Given the description of an element on the screen output the (x, y) to click on. 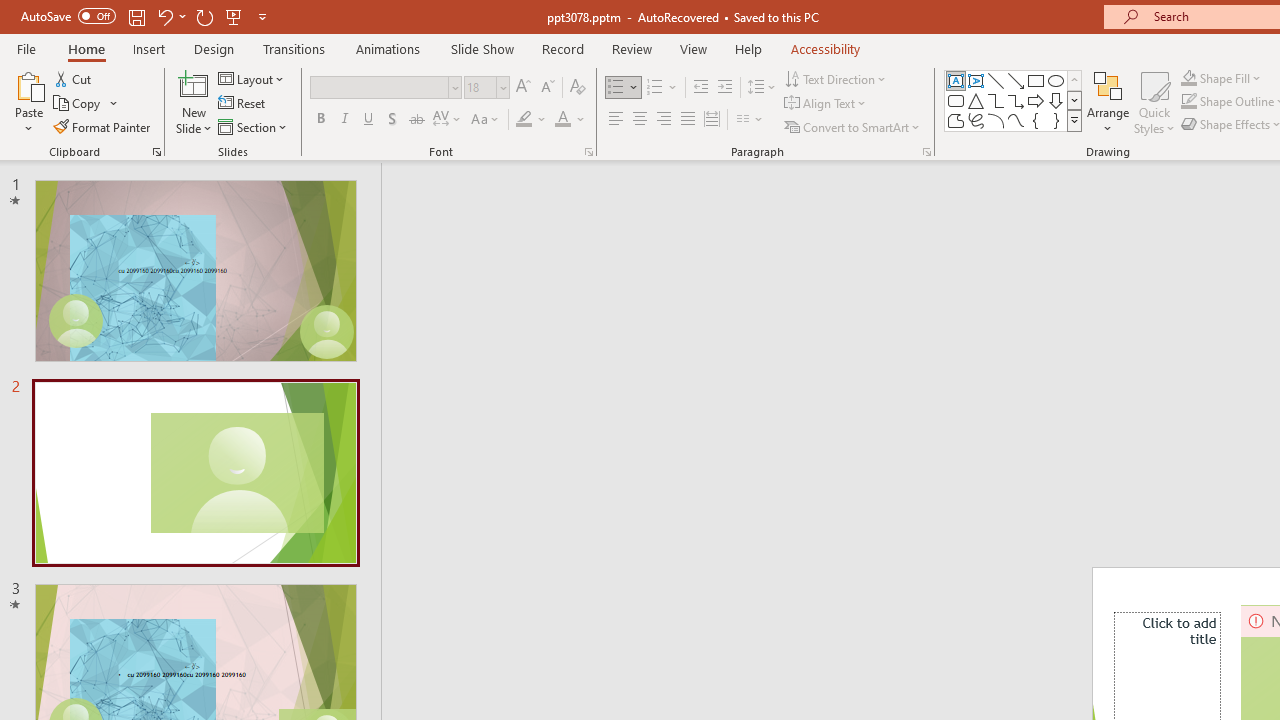
Shape Outline Green, Accent 1 (1188, 101)
